Given the description of an element on the screen output the (x, y) to click on. 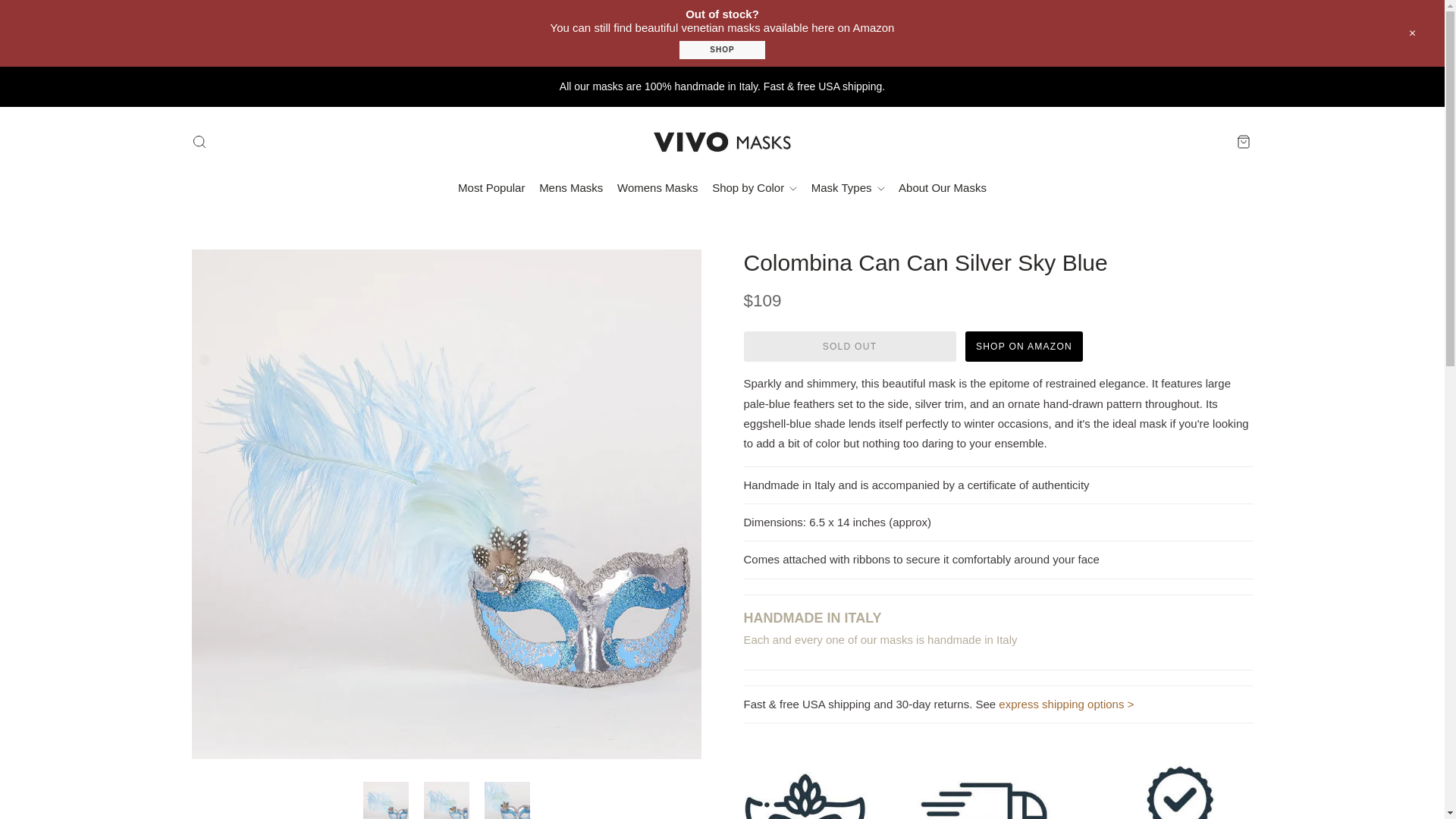
Chevron down Icon (793, 188)
Sold out (848, 346)
SHOP (721, 48)
SHOP (721, 49)
Chevron down Icon (880, 188)
